Given the description of an element on the screen output the (x, y) to click on. 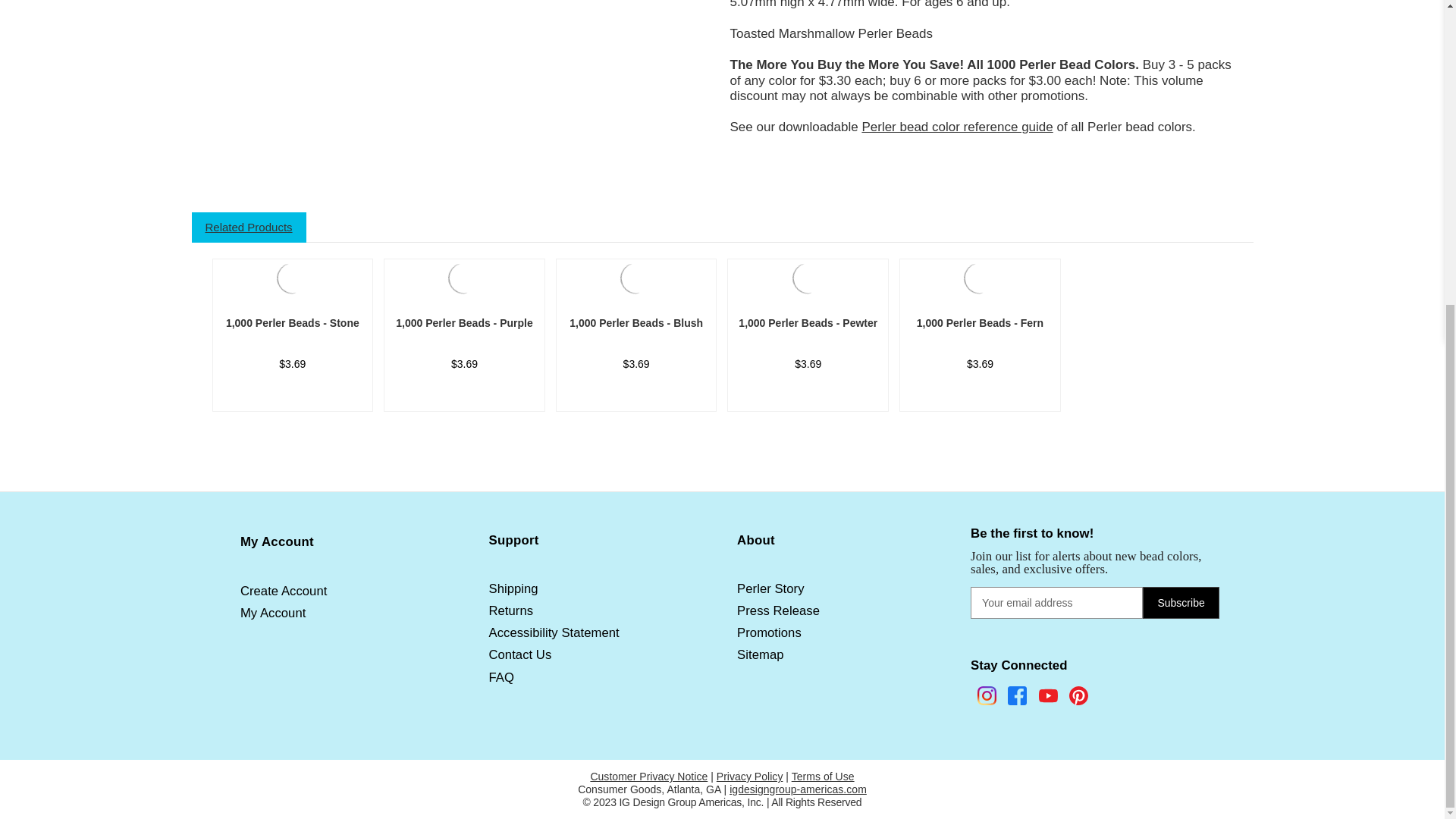
1,000 Perler Beads - Stone (292, 276)
1,000 Perler Beads - Purple (464, 322)
1,000 Perler Beads - Blush (636, 276)
1,000 Perler Beads - Purple (464, 276)
1000 Beads Blush (636, 278)
1000 Beads Purple (464, 278)
Subscribe (1180, 603)
1,000 Perler Beads - Stone (292, 322)
1000 Beads Stone (292, 278)
